Given the description of an element on the screen output the (x, y) to click on. 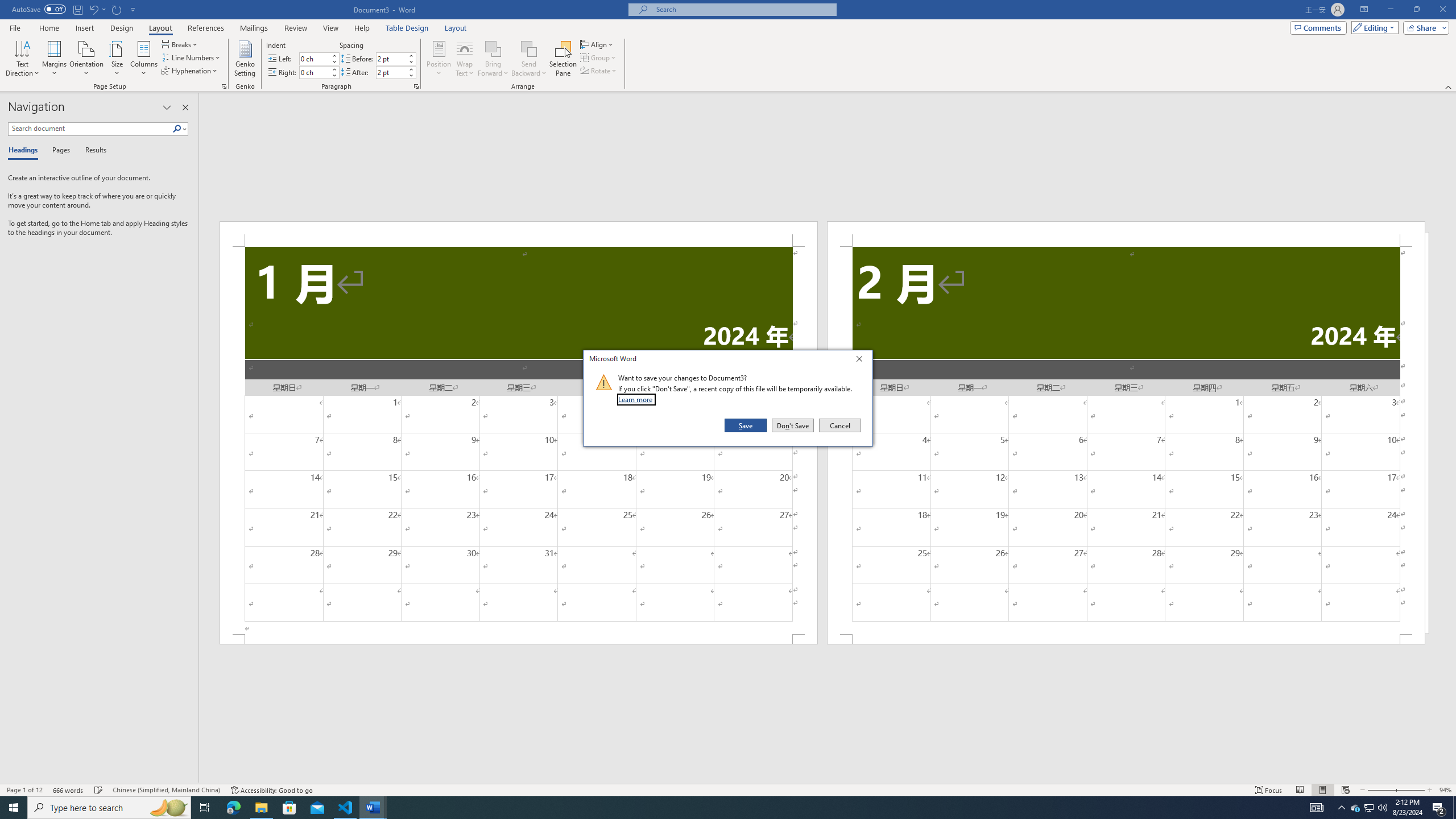
Undo Increase Indent (96, 9)
Search highlights icon opens search home window (167, 807)
Header -Section 2- (1126, 233)
Pages (59, 150)
